Given the description of an element on the screen output the (x, y) to click on. 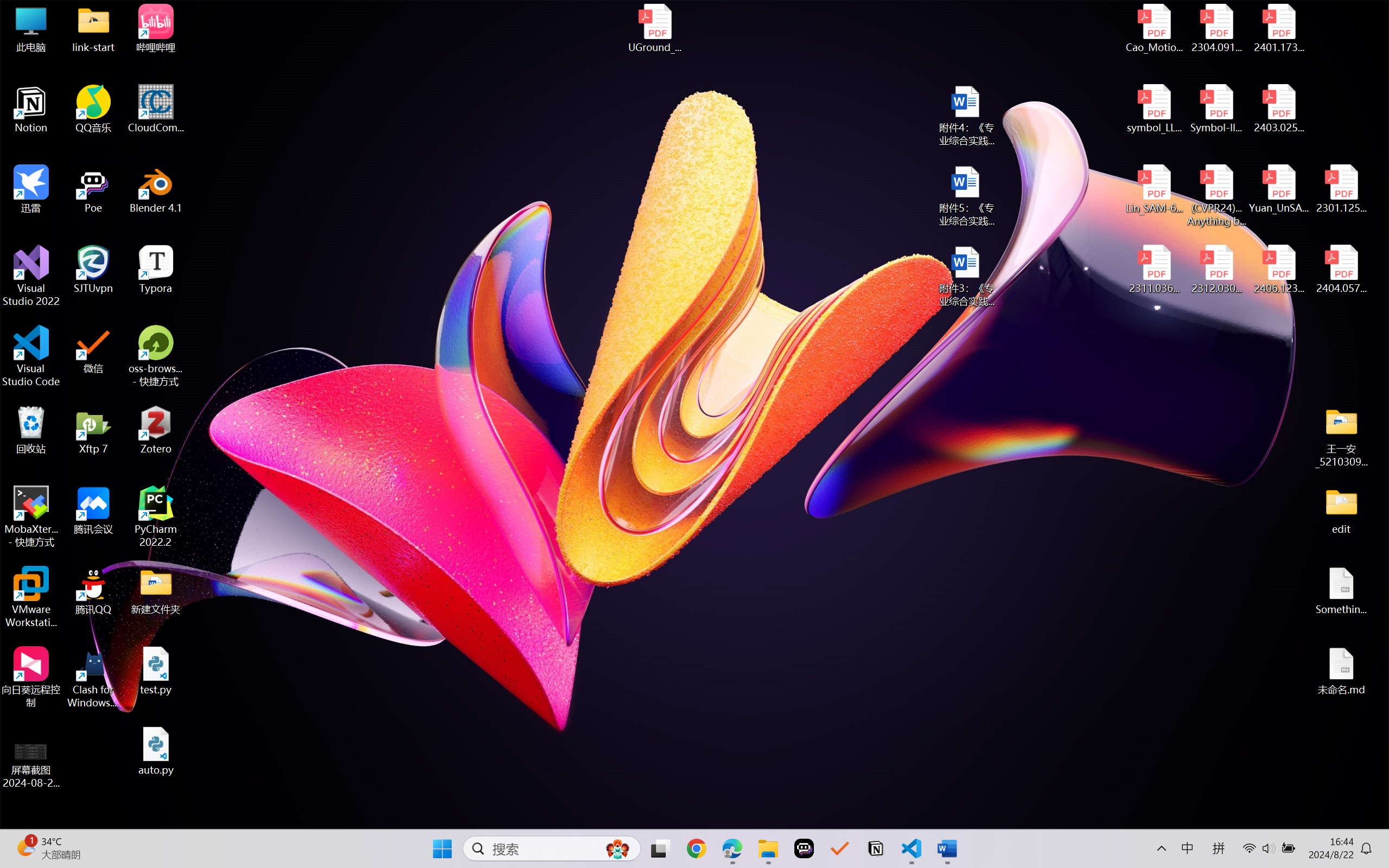
PyCharm 2022.2 (156, 516)
CloudCompare (156, 109)
2312.03032v2.pdf (1216, 269)
(CVPR24)Matching Anything by Segmenting Anything.pdf (1216, 195)
Visual Studio Code (31, 355)
